Given the description of an element on the screen output the (x, y) to click on. 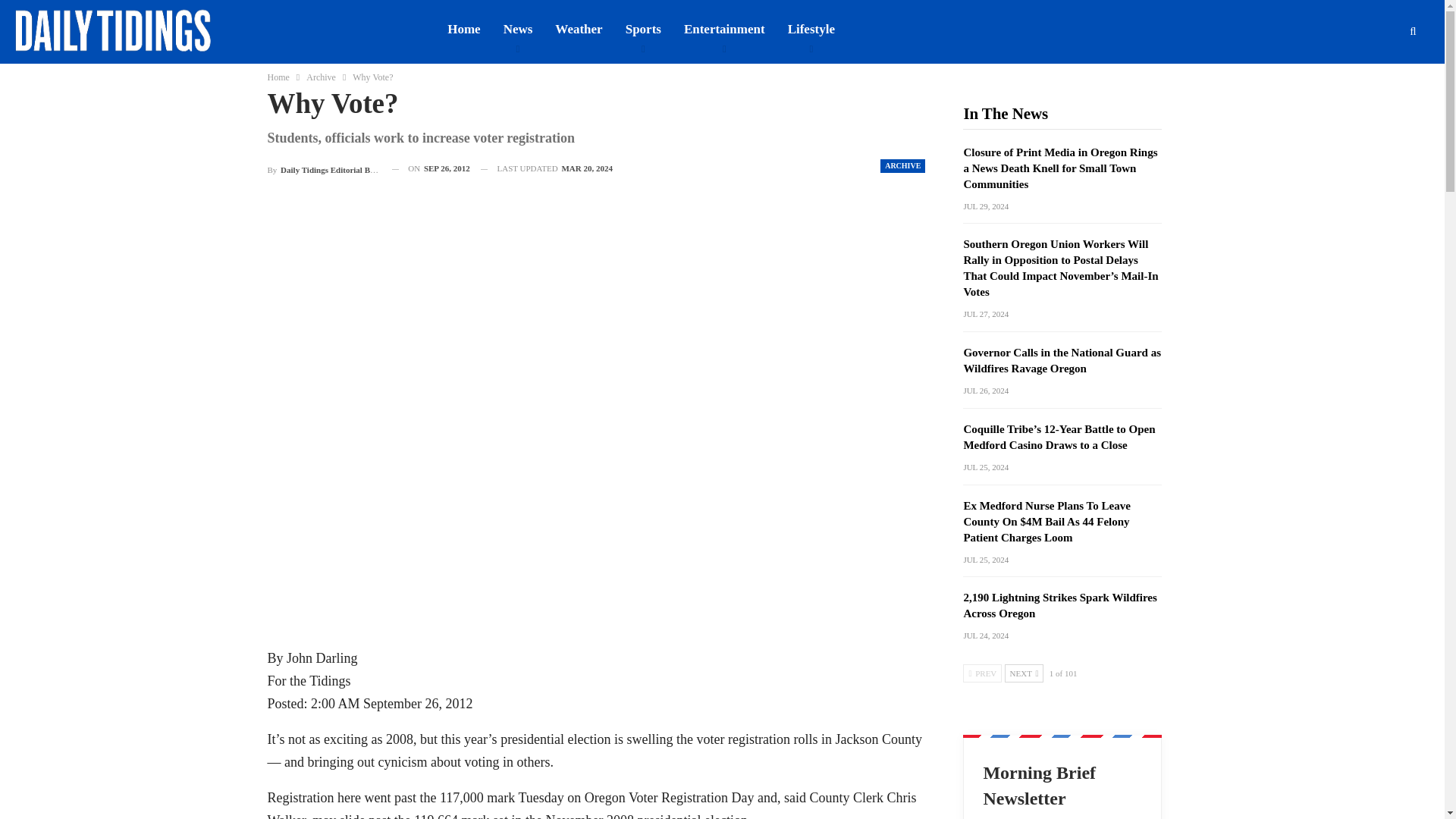
Entertainment (724, 29)
Archive (320, 76)
Next (1023, 673)
Sports (643, 29)
Lifestyle (810, 29)
Home (277, 76)
Browse Author Articles (323, 168)
Previous (981, 673)
Home (463, 29)
ARCHIVE (902, 165)
Weather (577, 29)
By Daily Tidings Editorial Board (323, 168)
